Given the description of an element on the screen output the (x, y) to click on. 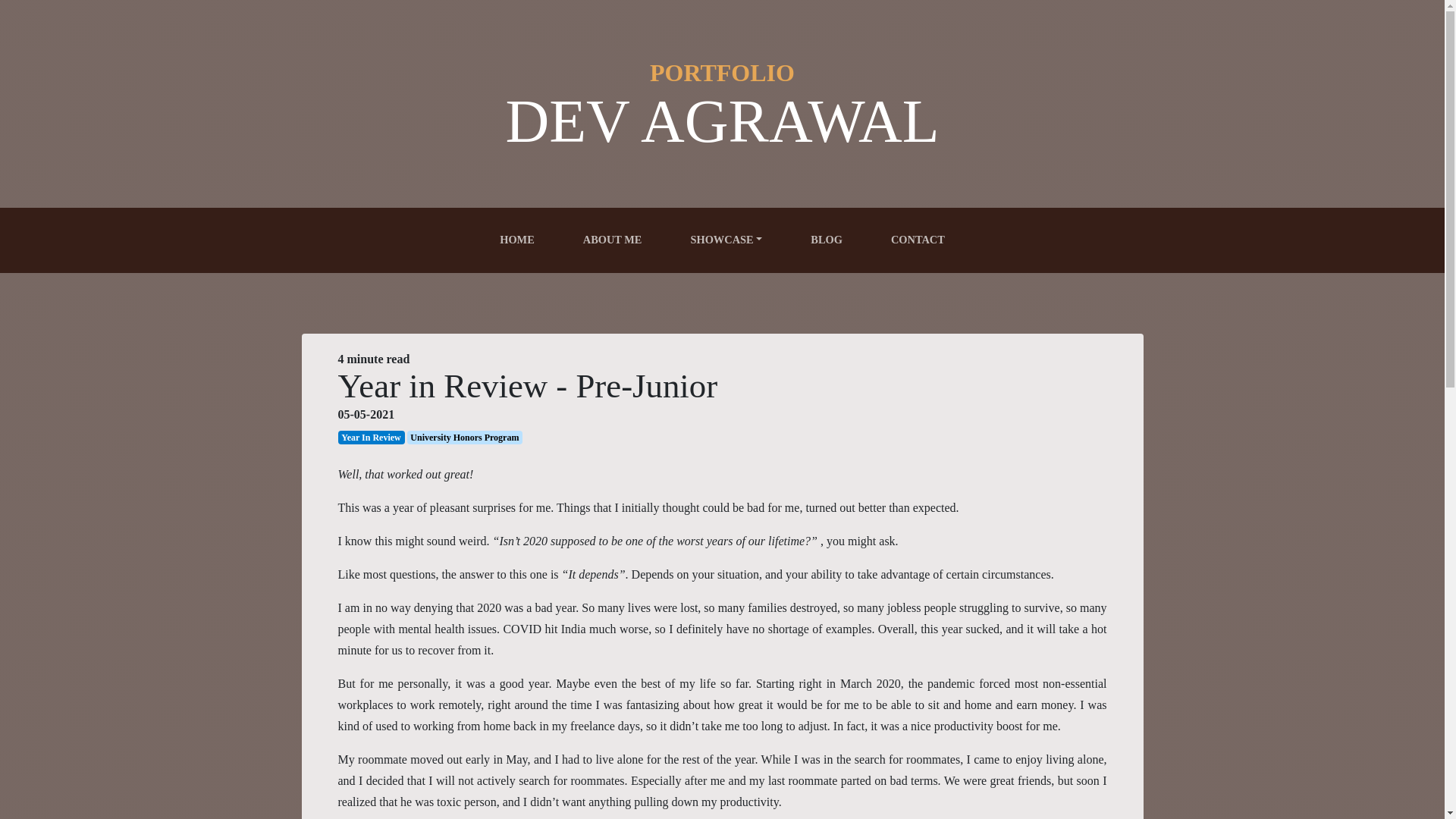
ABOUT ME (611, 240)
CONTACT (917, 240)
BLOG (826, 240)
HOME (516, 240)
SHOWCASE (726, 240)
